Given the description of an element on the screen output the (x, y) to click on. 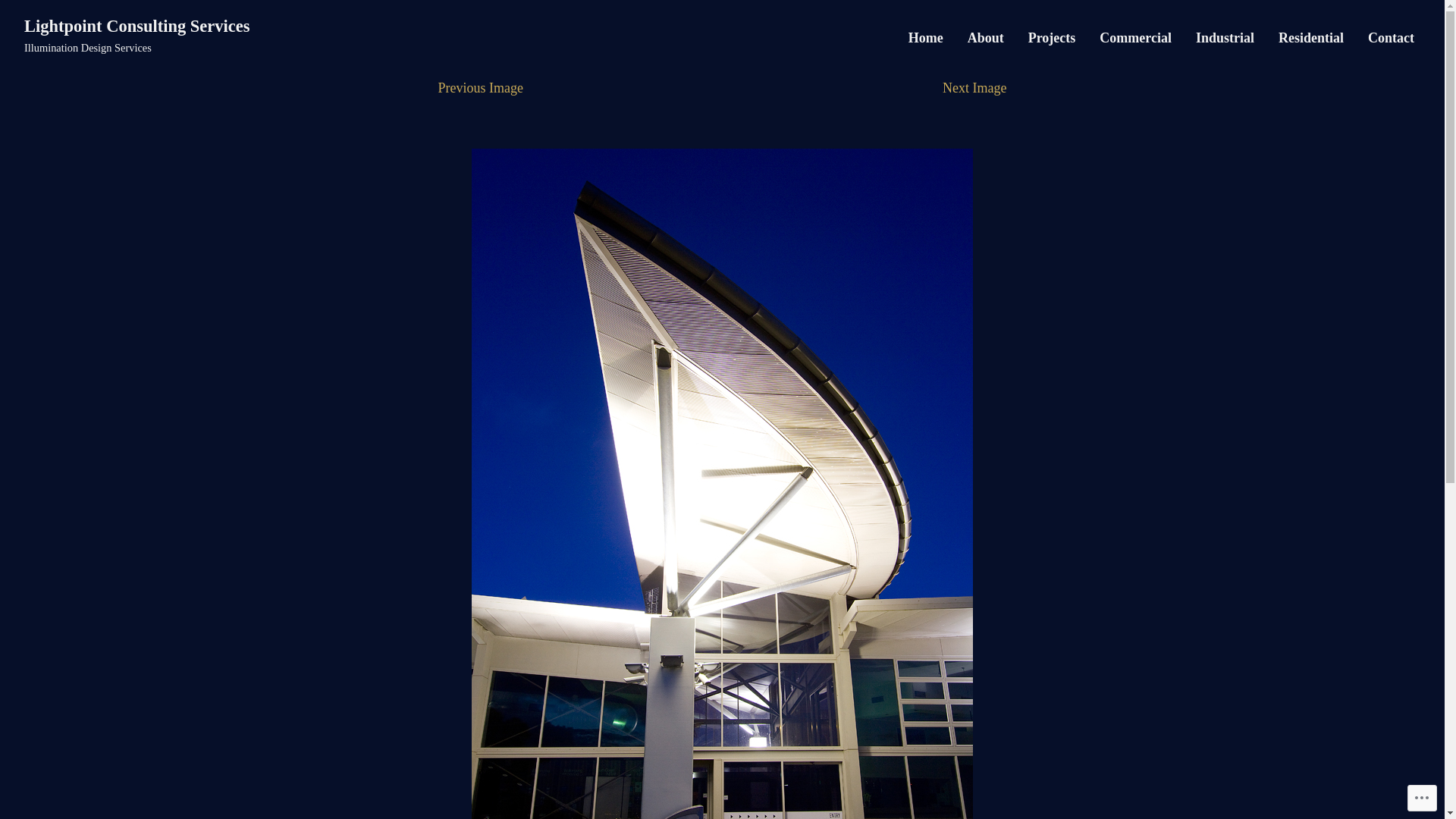
Projects Element type: text (1052, 37)
Next Image Element type: text (974, 87)
Contact Element type: text (1390, 37)
Lightpoint Consulting Services Element type: text (137, 25)
About Element type: text (985, 37)
Previous Image Element type: text (480, 87)
Home Element type: text (925, 37)
Residential Element type: text (1310, 37)
Commercial Element type: text (1135, 37)
Industrial Element type: text (1224, 37)
